Given the description of an element on the screen output the (x, y) to click on. 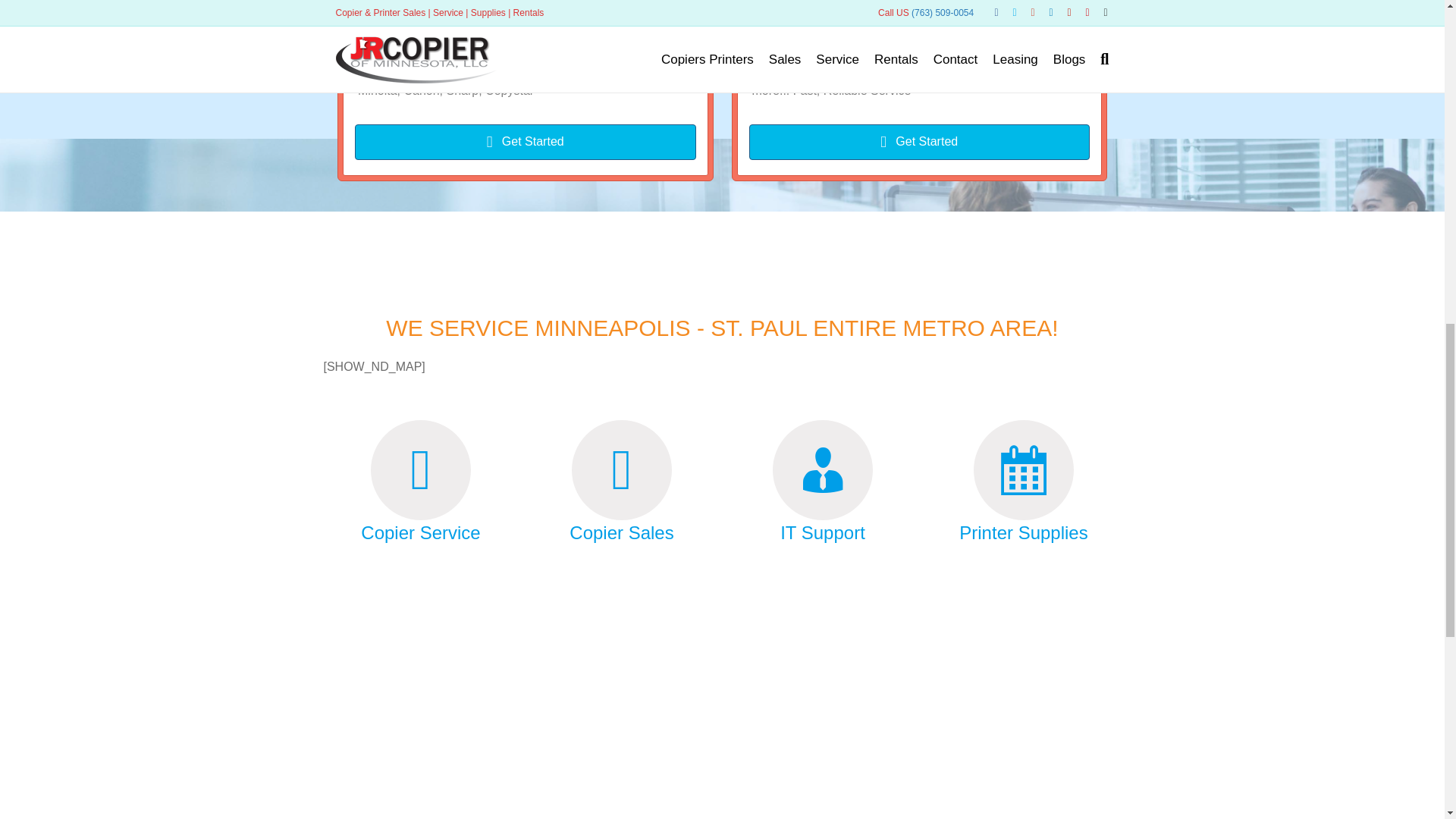
Printer Supplies (1023, 532)
Copier Service (420, 532)
IT Support (822, 532)
